Given the description of an element on the screen output the (x, y) to click on. 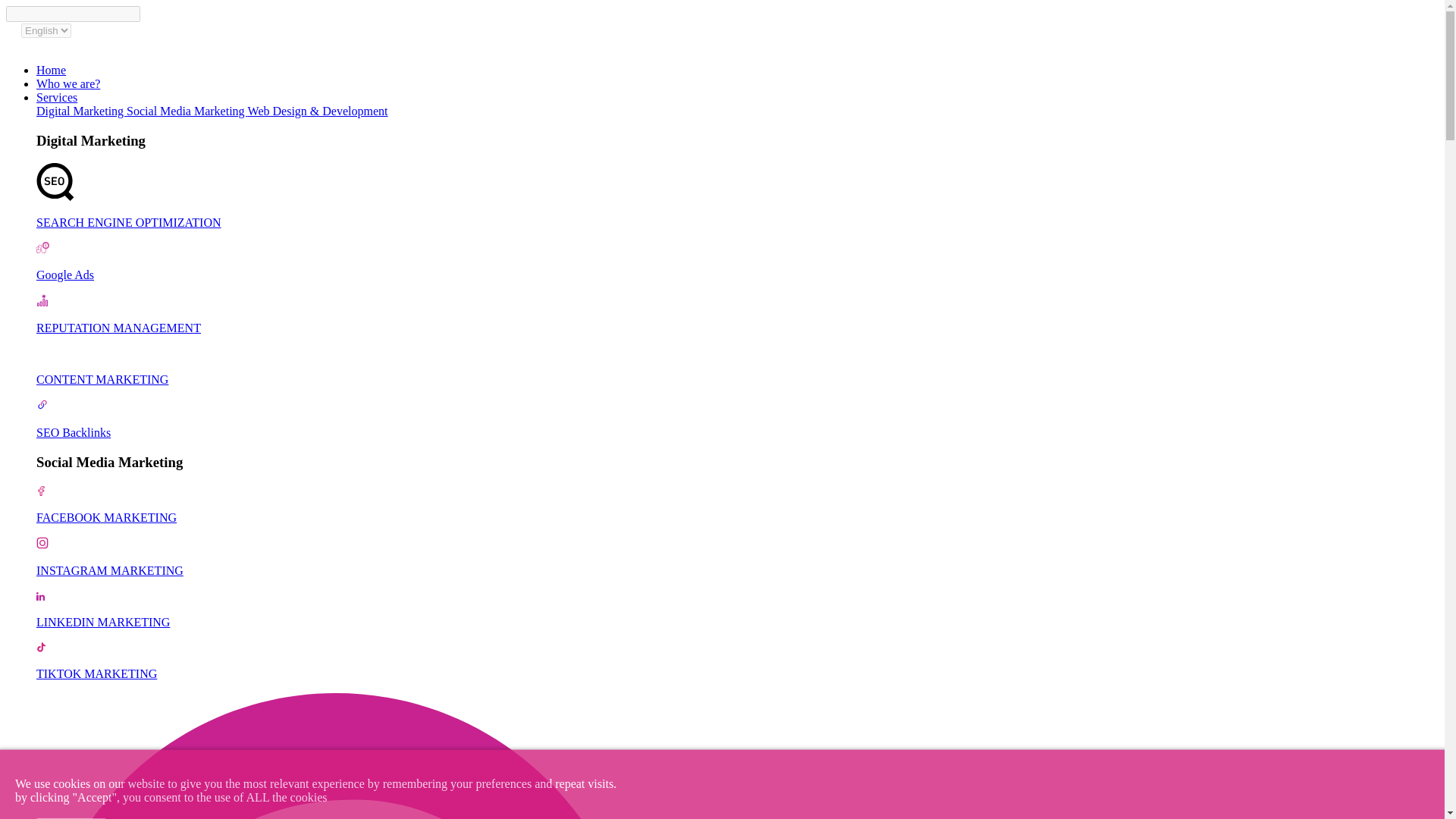
Social Media Marketing (186, 110)
Who we are? (68, 83)
Digital Marketing (81, 110)
Services (56, 97)
Home (50, 69)
